Given the description of an element on the screen output the (x, y) to click on. 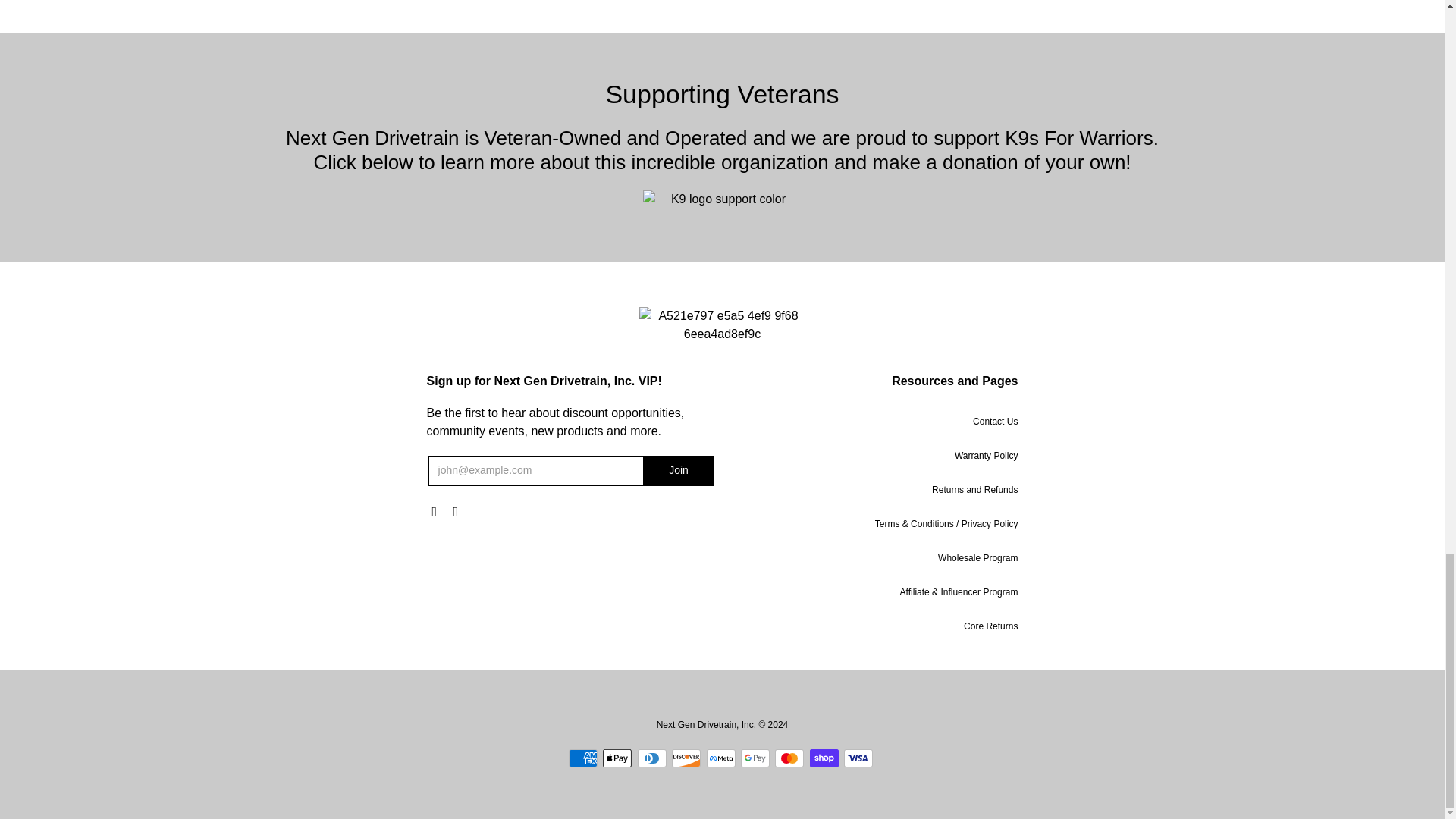
Discover (685, 758)
Join (678, 470)
American Express (582, 758)
Diners Club (651, 758)
Mastercard (788, 758)
Shop Pay (823, 758)
Visa (858, 758)
Google Pay (755, 758)
Apple Pay (616, 758)
Meta Pay (720, 758)
